Given the description of an element on the screen output the (x, y) to click on. 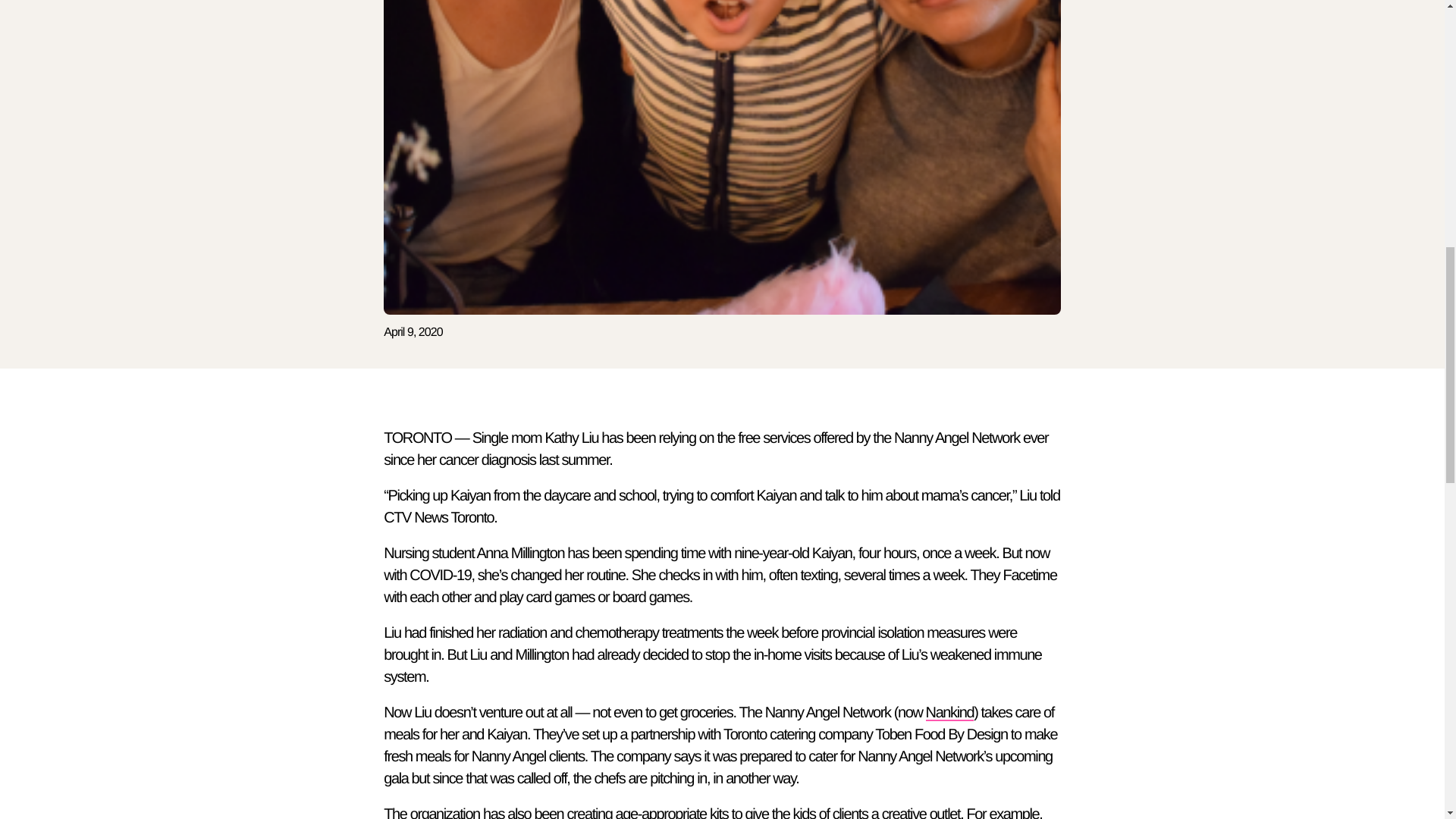
Nankind (950, 712)
